Given the description of an element on the screen output the (x, y) to click on. 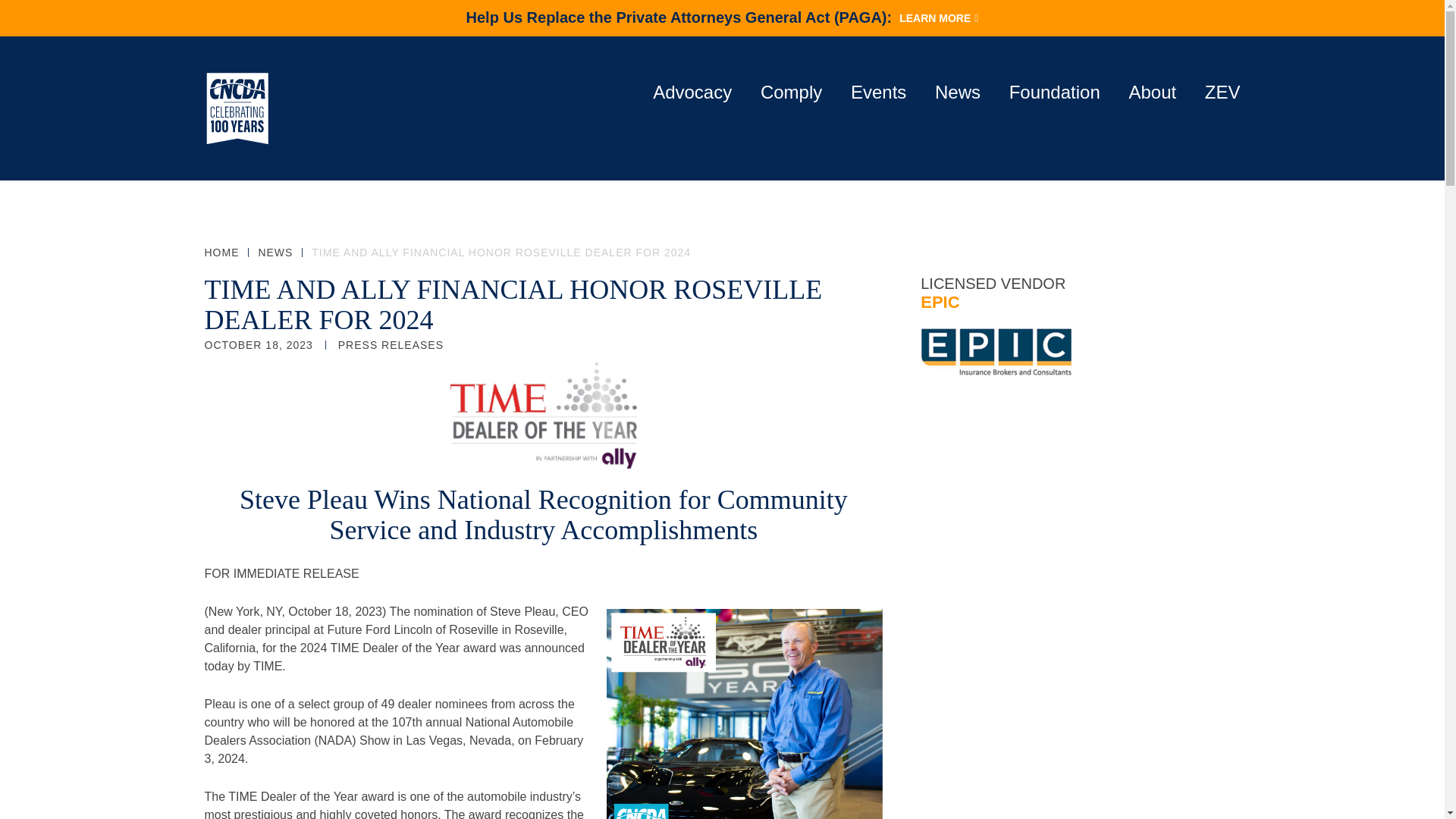
LEARN MORE (934, 18)
Advocacy (692, 91)
HOME (222, 252)
News (956, 91)
About (1152, 91)
NEWS (274, 252)
Foundation (1054, 91)
Comply (791, 91)
PRESS RELEASES (390, 345)
Events (877, 91)
ZEV (1222, 91)
